Given the description of an element on the screen output the (x, y) to click on. 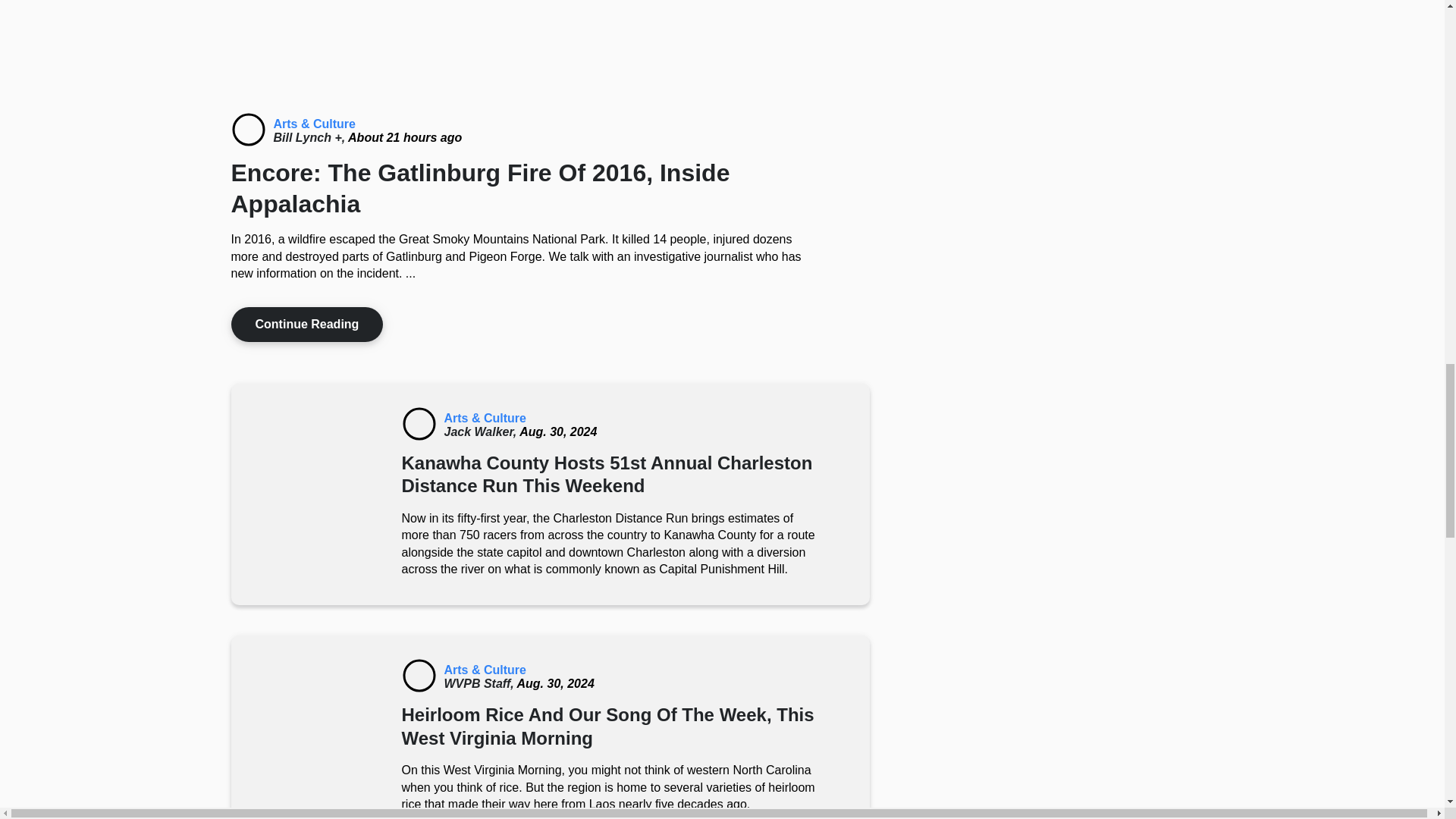
Encore: The Gatlinburg Fire Of 2016, Inside Appalachia (247, 129)
Jack Walker (481, 431)
